Given the description of an element on the screen output the (x, y) to click on. 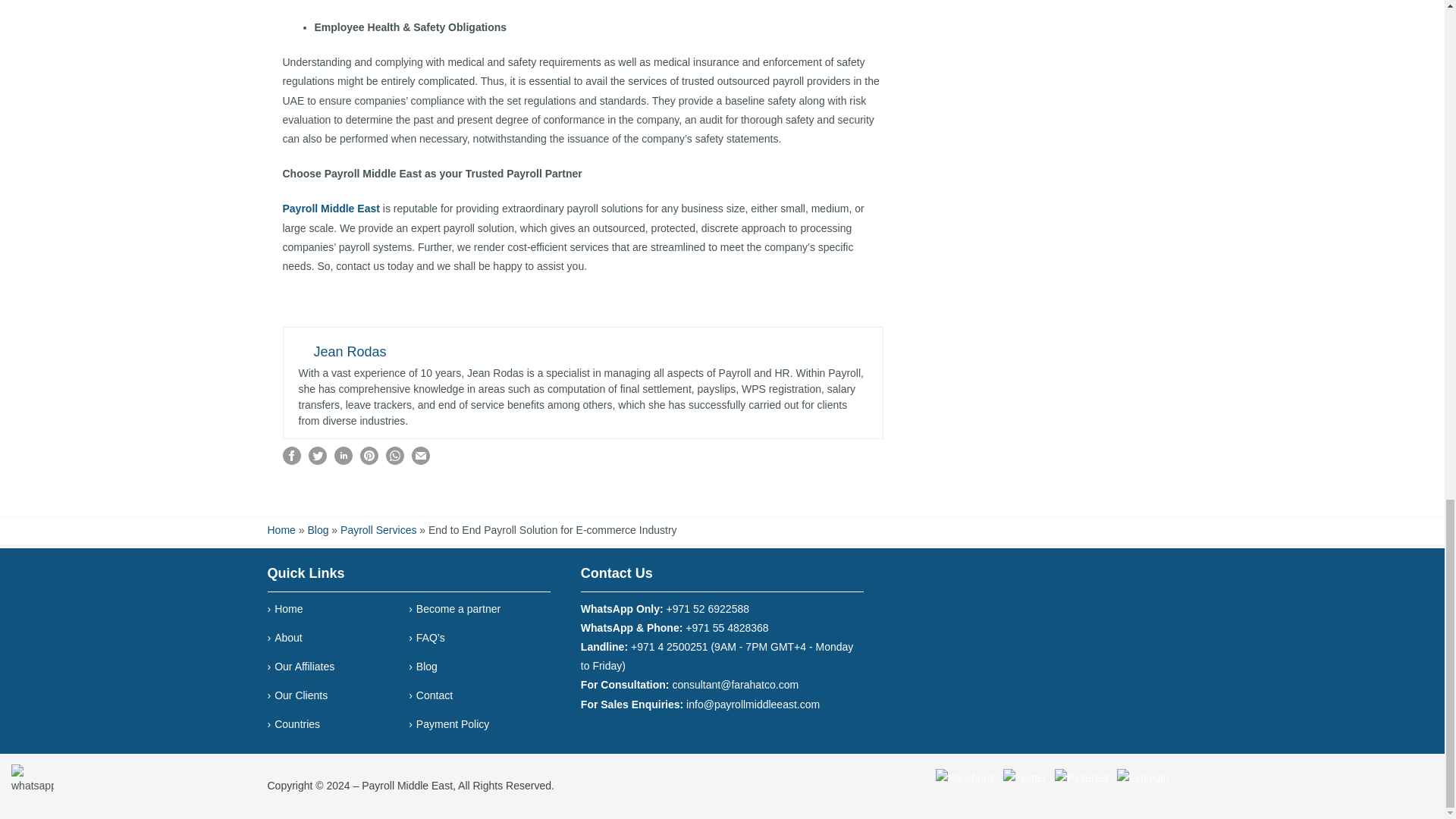
Go to Blog. (318, 530)
Share this post! (394, 460)
Email this post! (419, 460)
Tweet this post! (316, 460)
Twitter (1024, 777)
Facebook (965, 777)
Linkedin (1142, 777)
Pinterest (1081, 777)
Pin this post! (368, 460)
Share this post! (290, 460)
Share this post! (342, 460)
Go to the Payroll Services category archives. (378, 530)
